Given the description of an element on the screen output the (x, y) to click on. 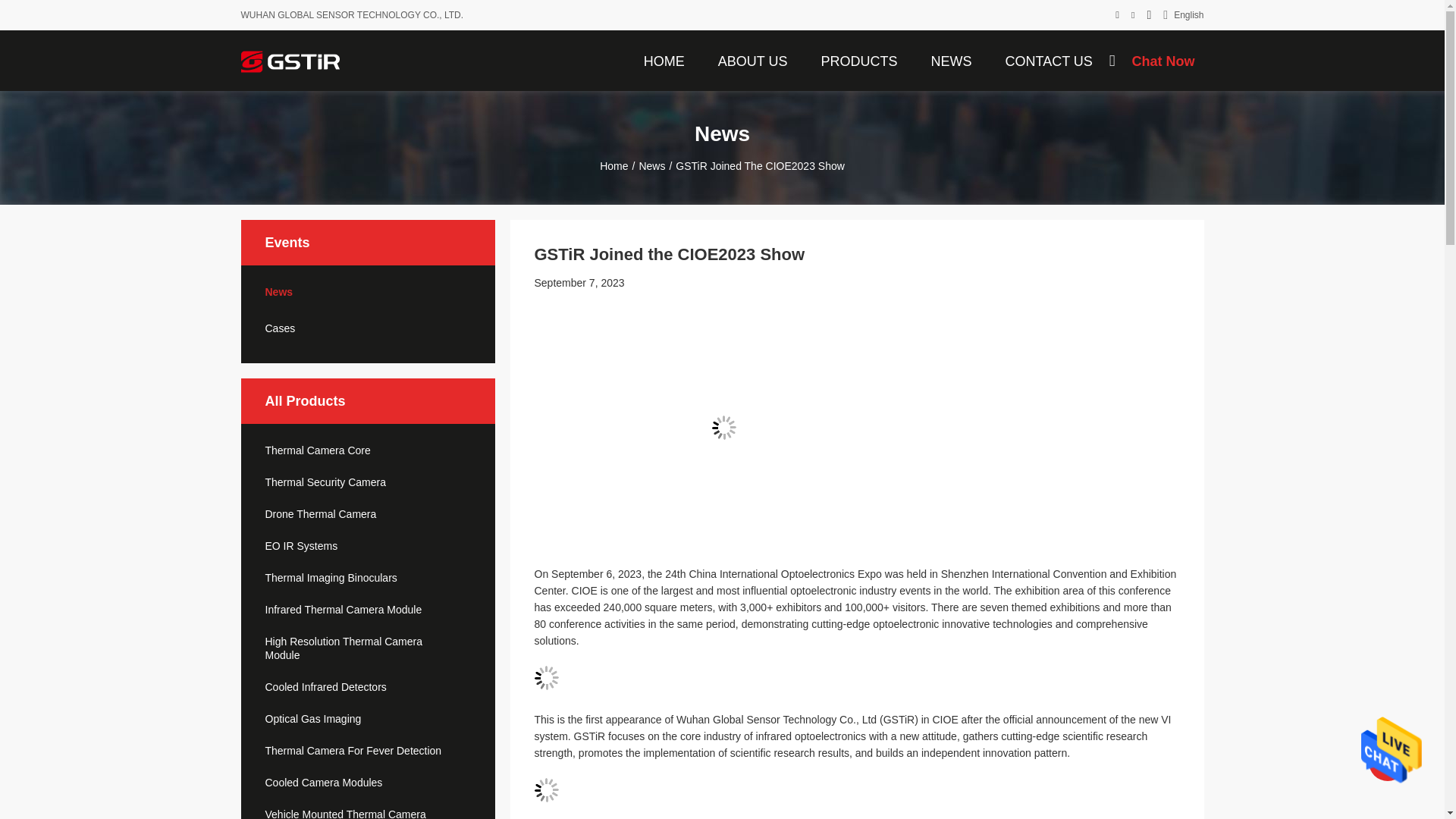
ABOUT US (752, 60)
PRODUCTS (857, 60)
HOME (664, 60)
